Given the description of an element on the screen output the (x, y) to click on. 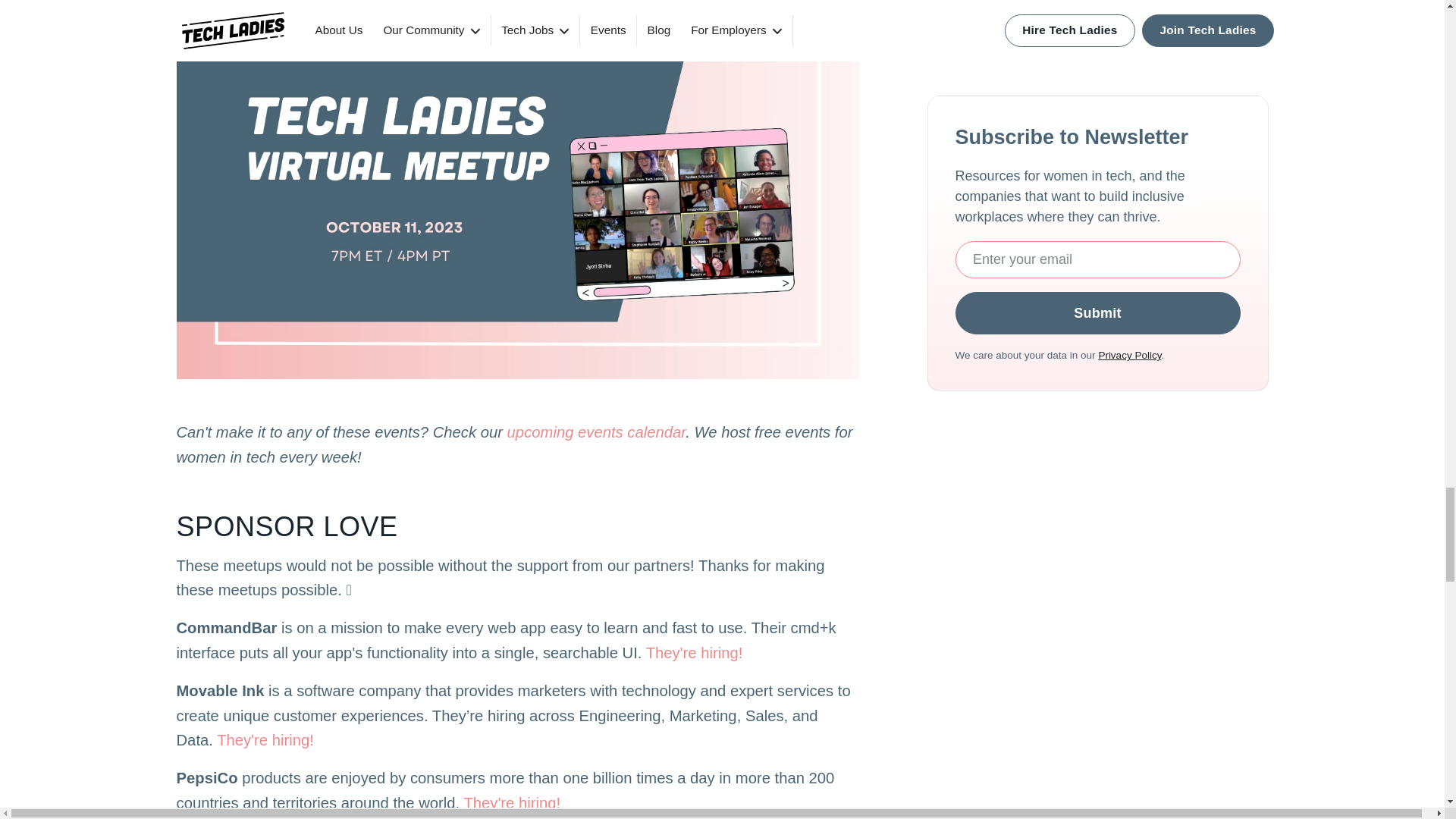
upcoming events calendar (595, 432)
